Given the description of an element on the screen output the (x, y) to click on. 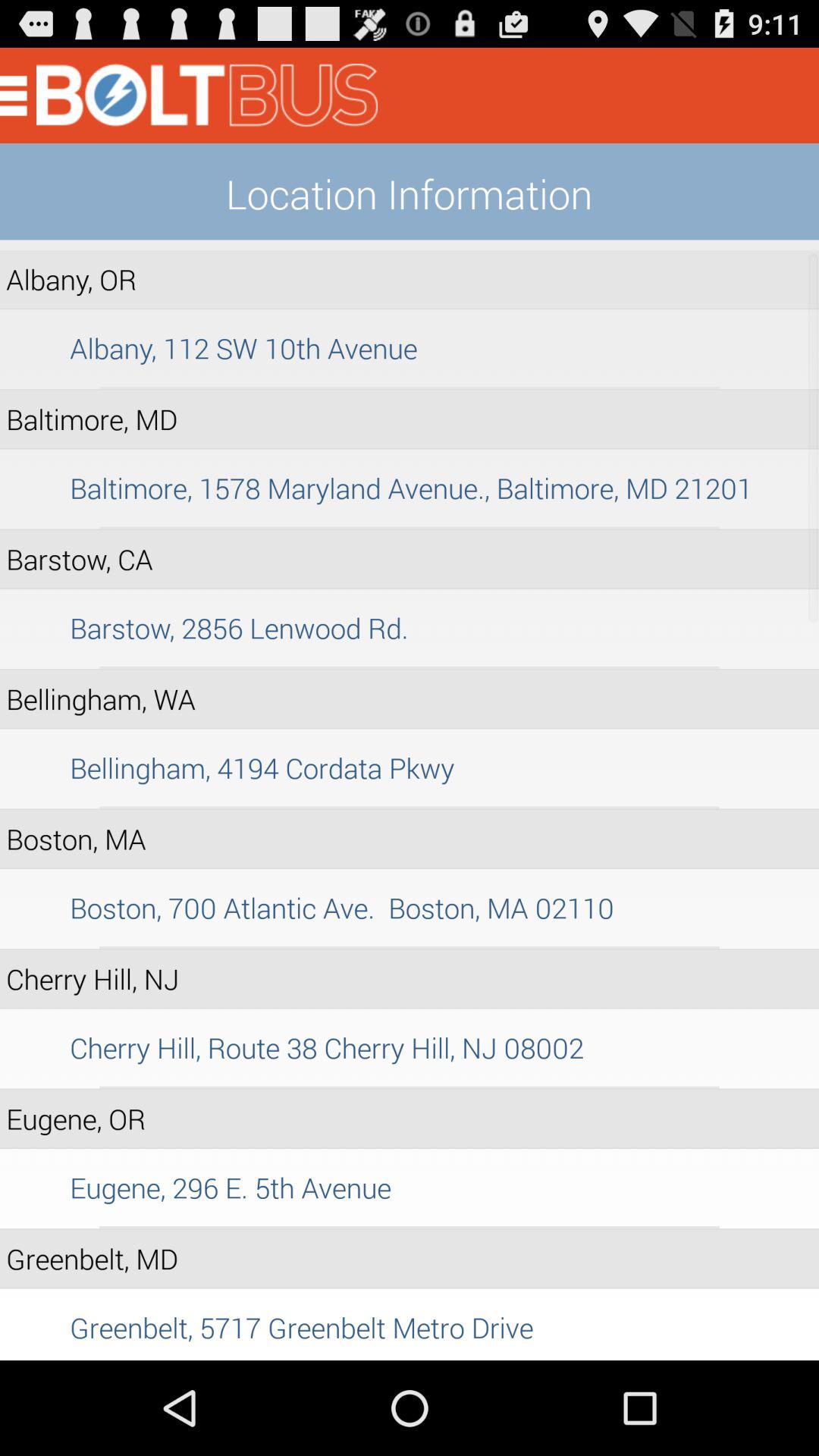
click the item above baltimore, md item (409, 387)
